Given the description of an element on the screen output the (x, y) to click on. 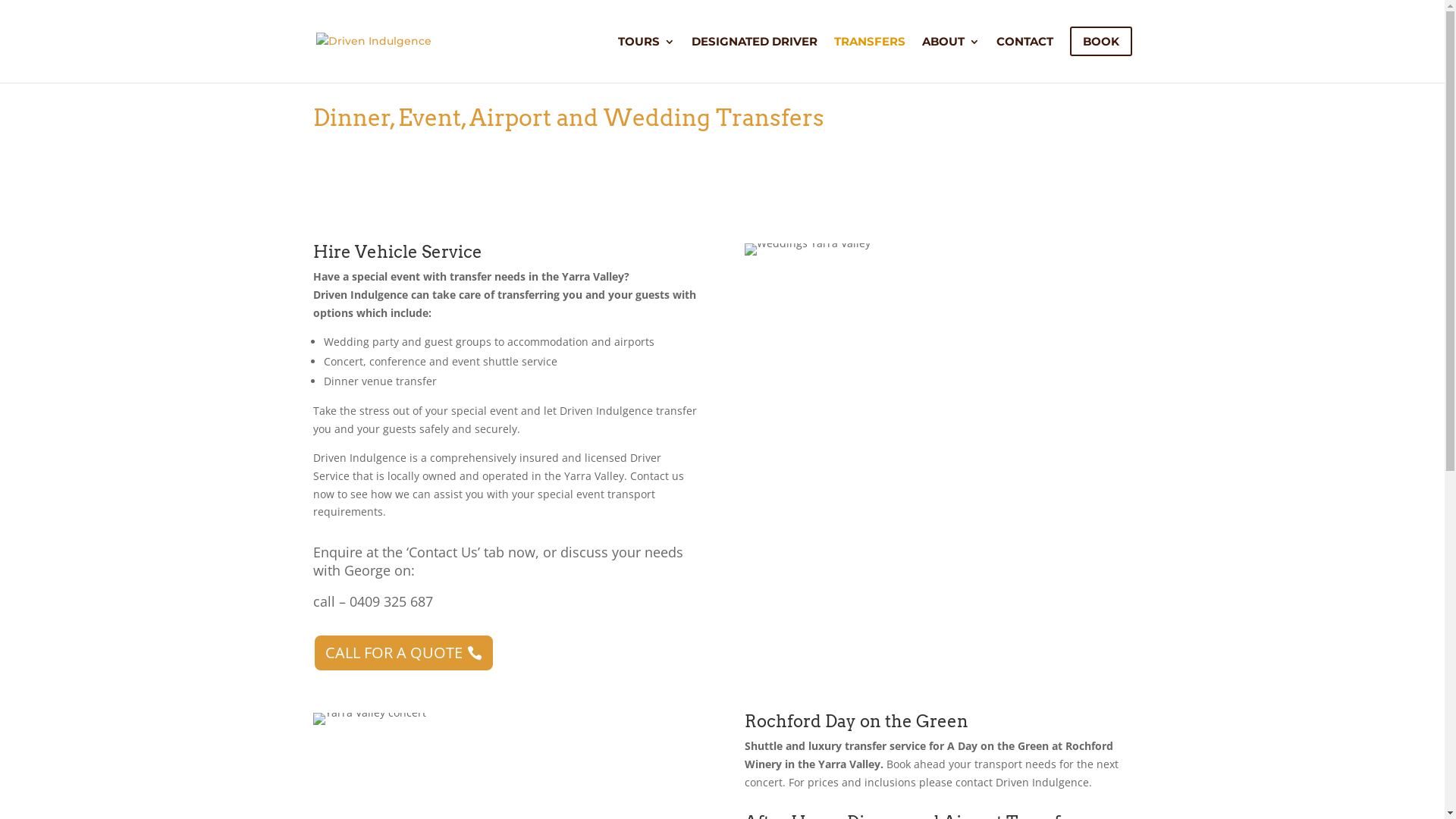
CALL FOR A QUOTE Element type: text (402, 652)
DESIGNATED DRIVER Element type: text (754, 54)
CONTACT Element type: text (1024, 54)
TRANSFERS Element type: text (869, 54)
TOURS Element type: text (645, 54)
ABOUT Element type: text (950, 54)
BOOK Element type: text (1100, 54)
